Given the description of an element on the screen output the (x, y) to click on. 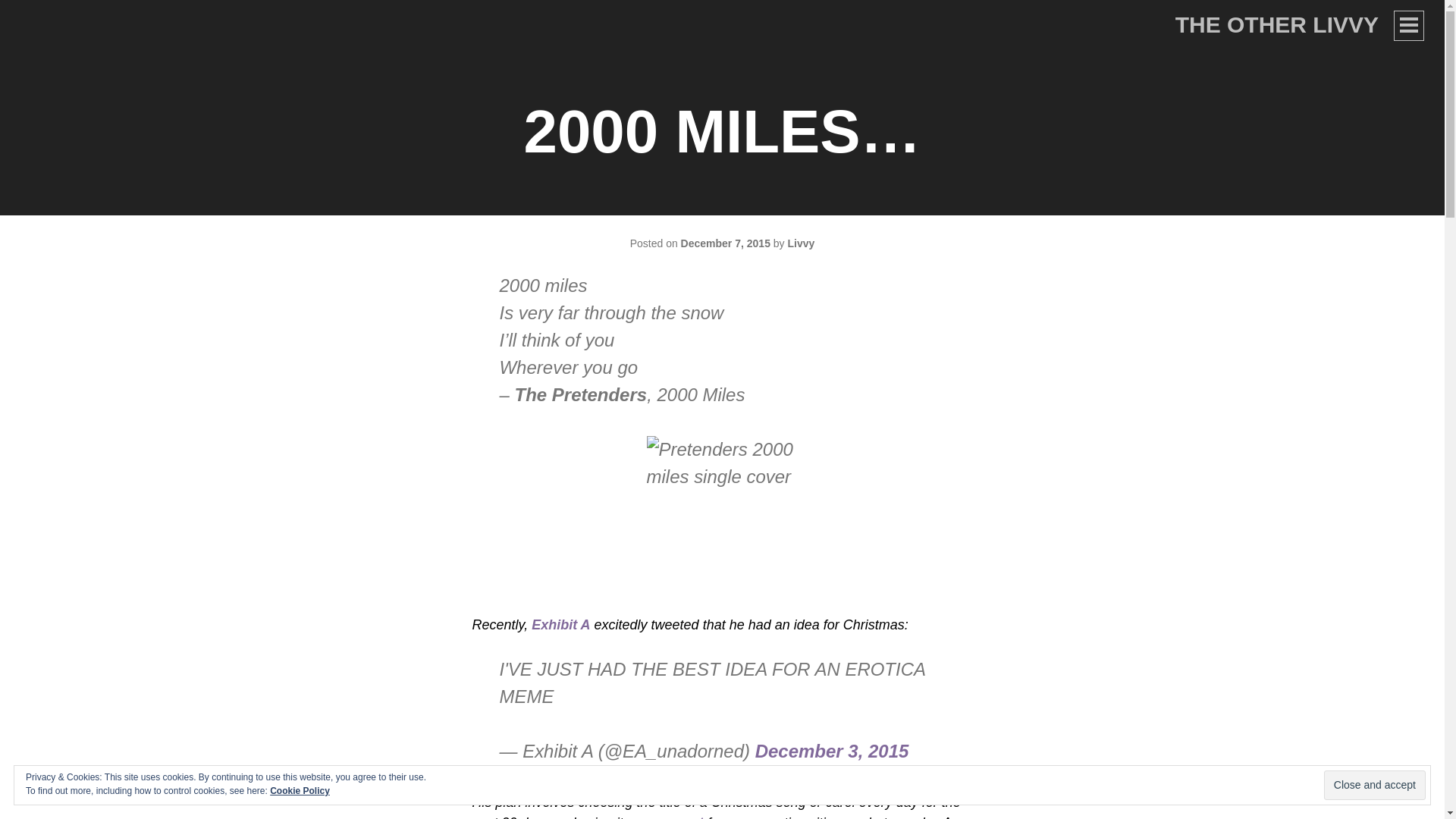
PRIMARY MENU (1408, 25)
Close and accept (1374, 785)
THE OTHER LIVVY (1276, 24)
Search (40, 18)
